Given the description of an element on the screen output the (x, y) to click on. 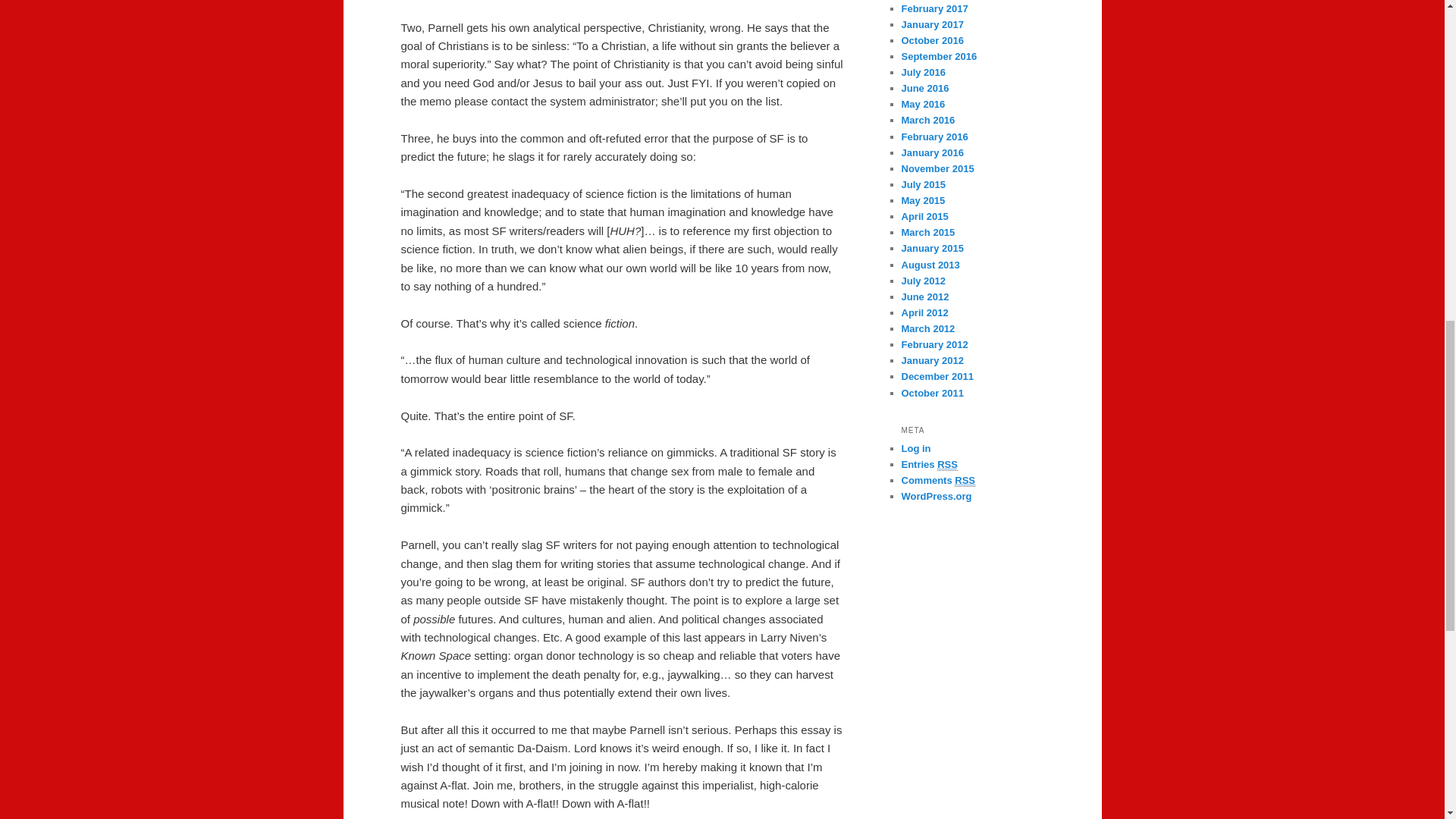
Really Simple Syndication (947, 464)
Really Simple Syndication (965, 480)
